Given the description of an element on the screen output the (x, y) to click on. 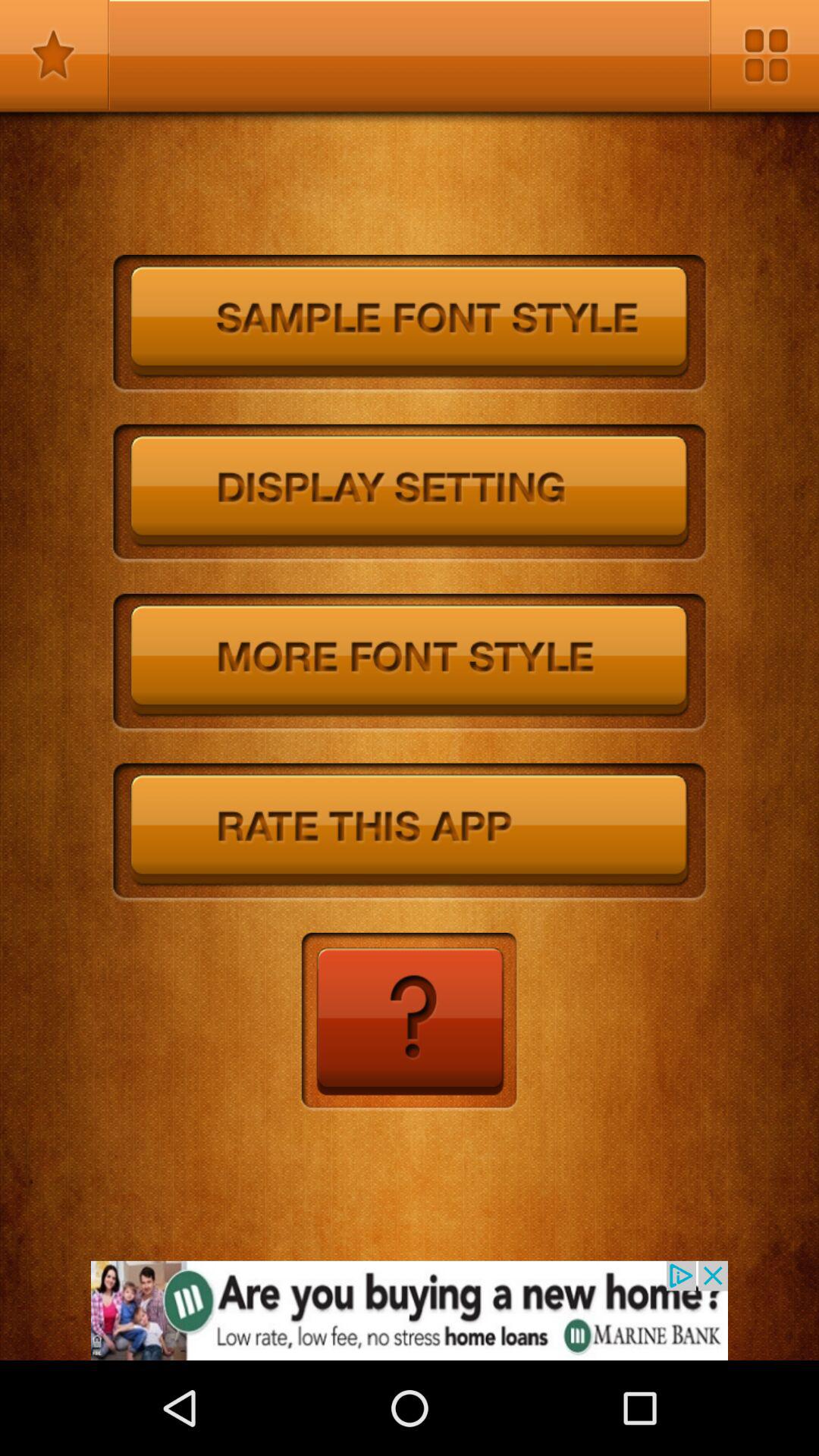
change font style (409, 663)
